Given the description of an element on the screen output the (x, y) to click on. 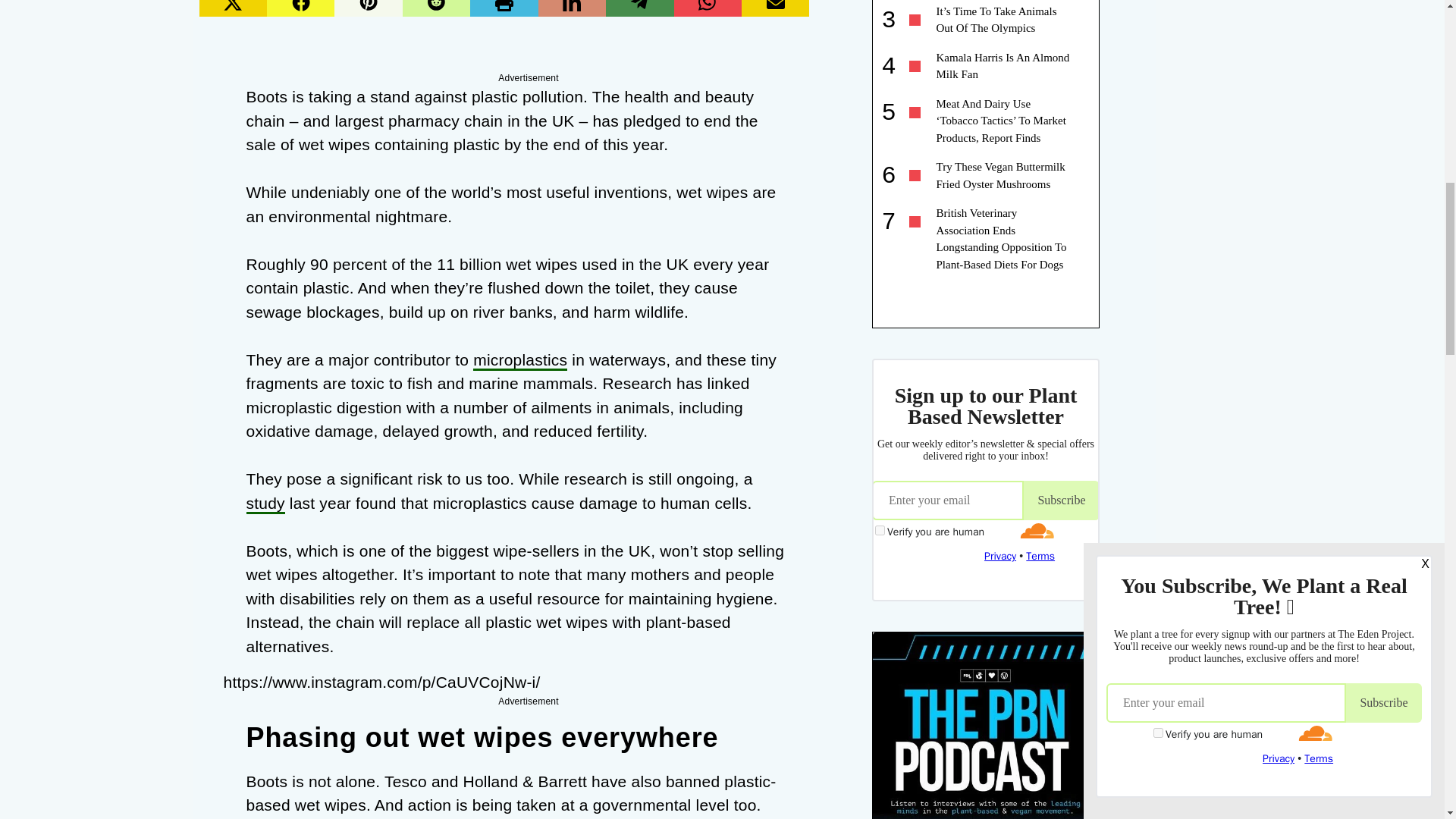
X (1434, 760)
